Given the description of an element on the screen output the (x, y) to click on. 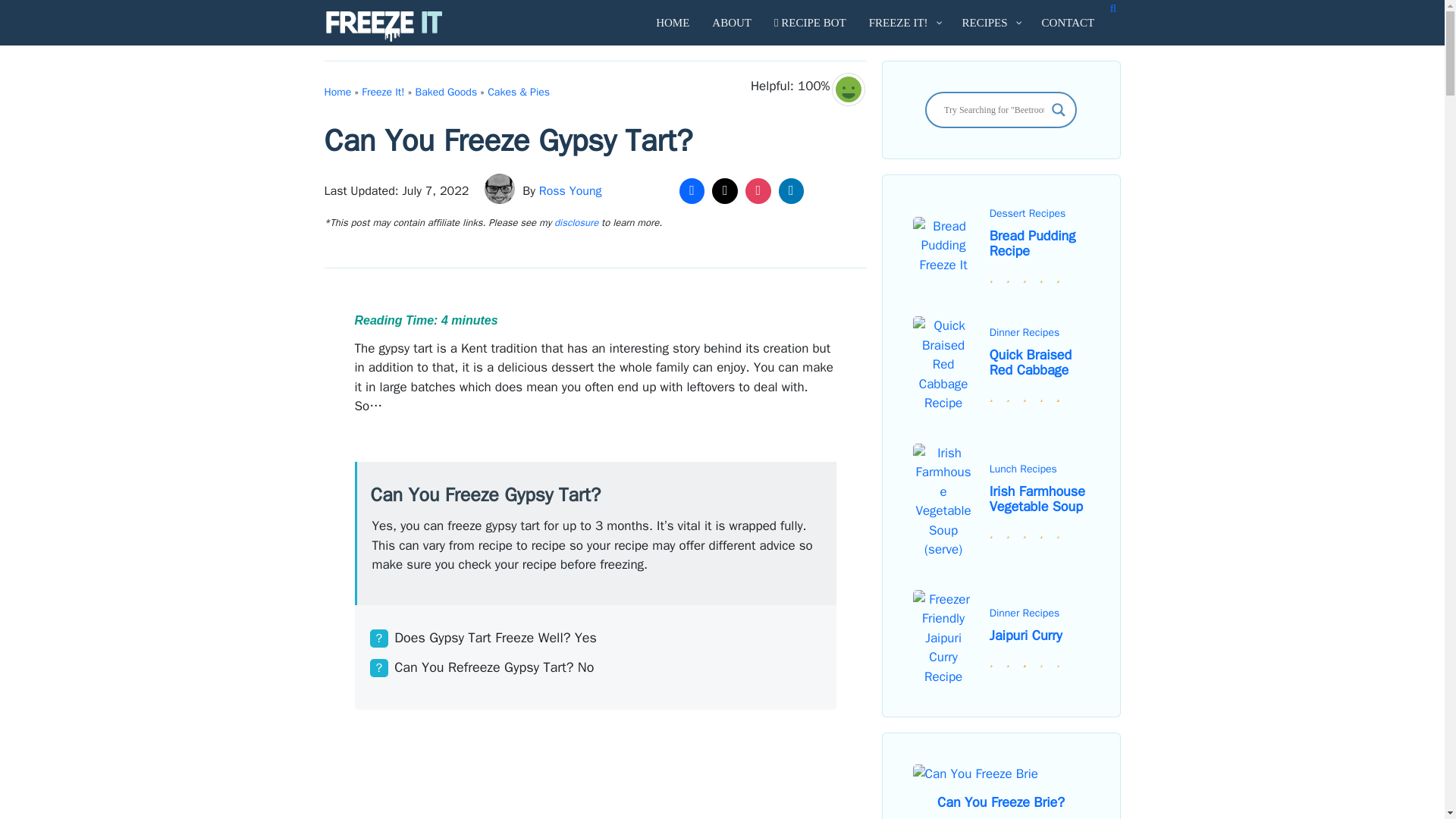
Instagram (757, 191)
CONTACT (1068, 22)
Home (338, 91)
Freeze It (383, 26)
Freeze It! (382, 91)
HOME (672, 22)
Linkedin (791, 191)
Baked Goods (445, 91)
ABOUT (731, 22)
FREEZE IT! (903, 22)
